Given the description of an element on the screen output the (x, y) to click on. 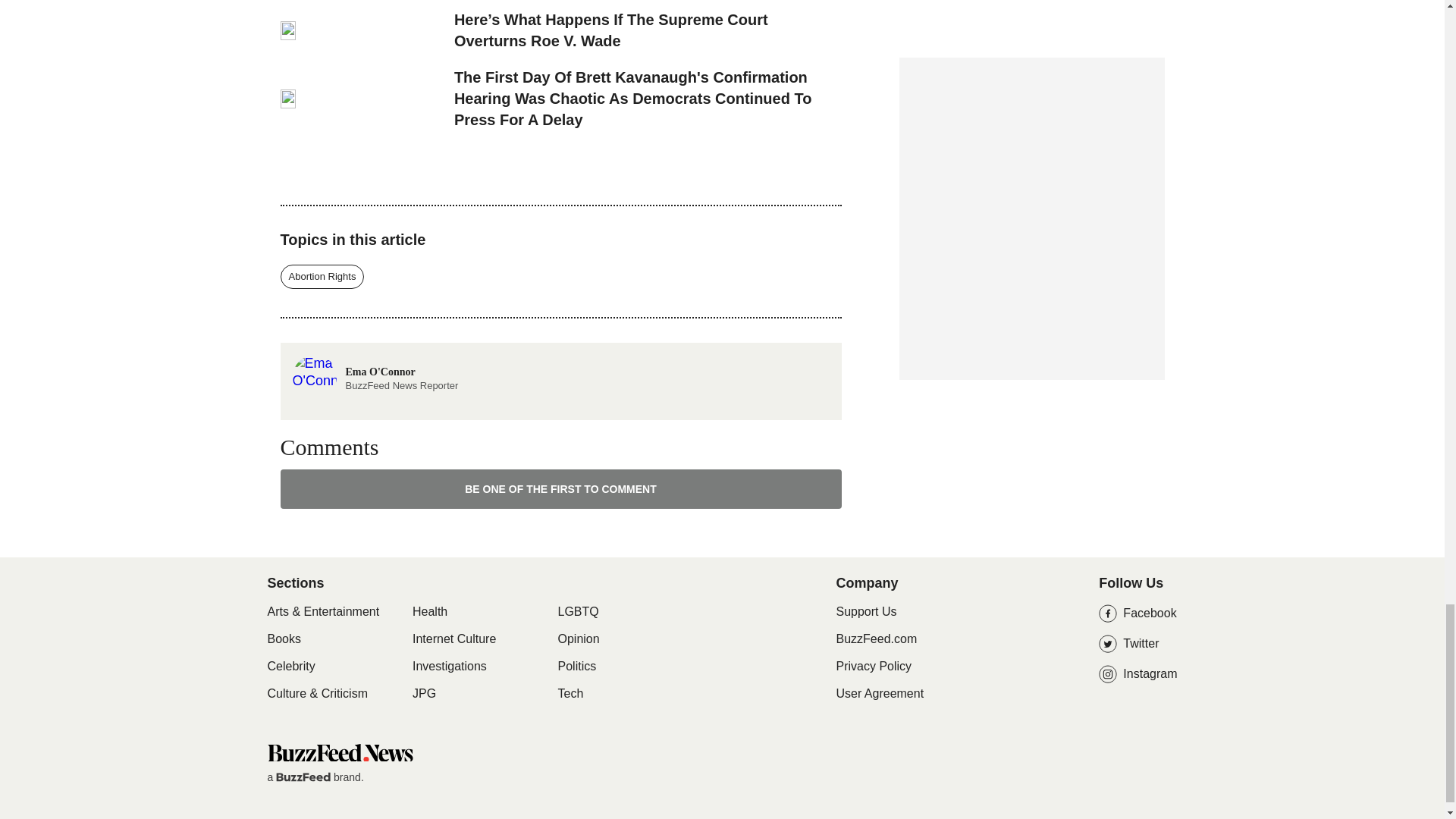
BuzzFeed News Home (339, 751)
Abortion Rights (323, 276)
Books (282, 638)
BE ONE OF THE FIRST TO COMMENT (561, 488)
Celebrity (375, 363)
BuzzFeed (290, 665)
